Given the description of an element on the screen output the (x, y) to click on. 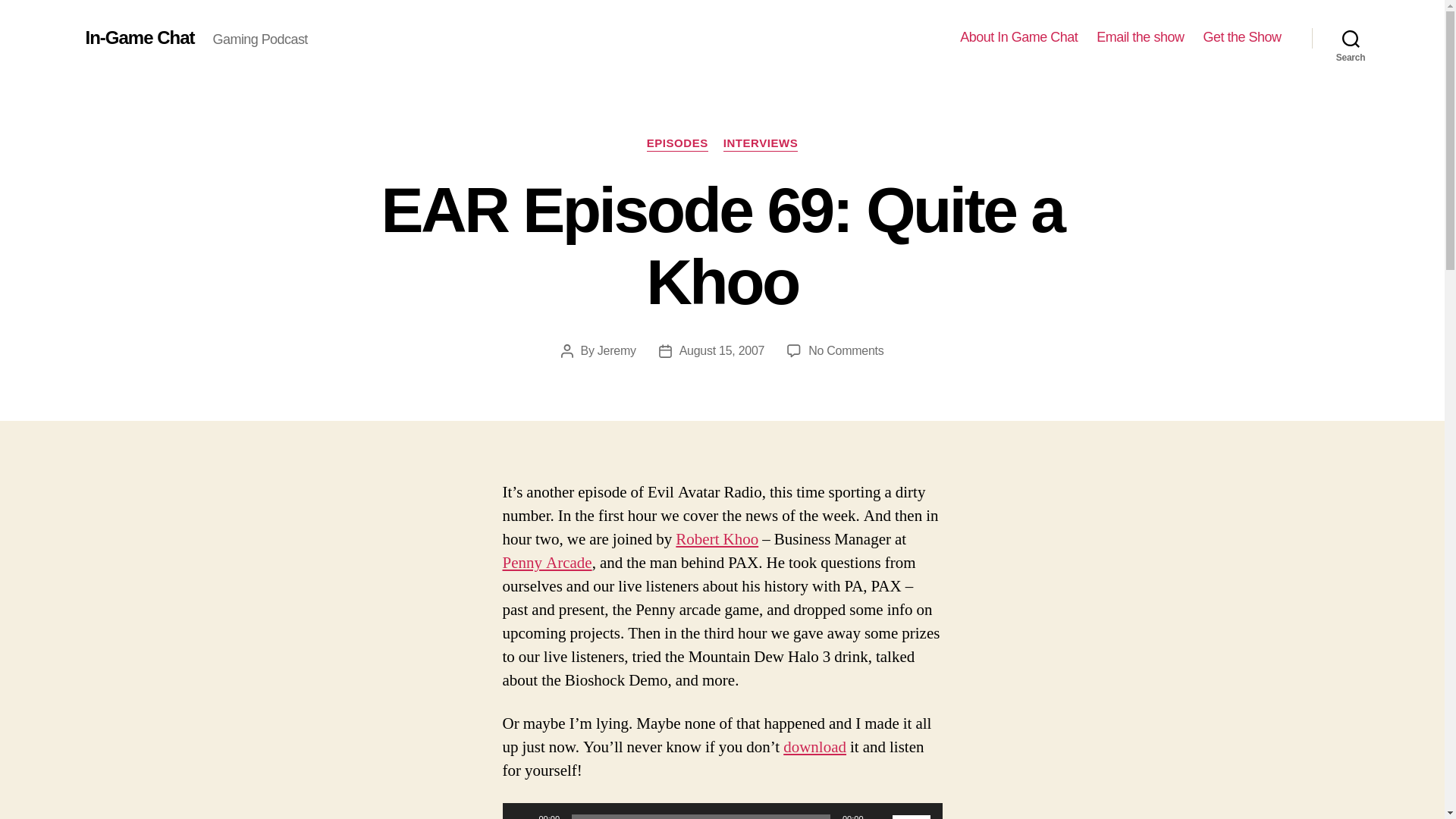
INTERVIEWS (760, 143)
In-Game Chat (138, 37)
Get the Show (1241, 37)
Mute (879, 814)
About In Game Chat (1018, 37)
EPISODES (676, 143)
Robert Khoo (716, 539)
download (814, 747)
Play (521, 814)
Penny Arcade (546, 562)
Email the show (1139, 37)
August 15, 2007 (845, 350)
Jeremy (722, 350)
Search (616, 350)
